Given the description of an element on the screen output the (x, y) to click on. 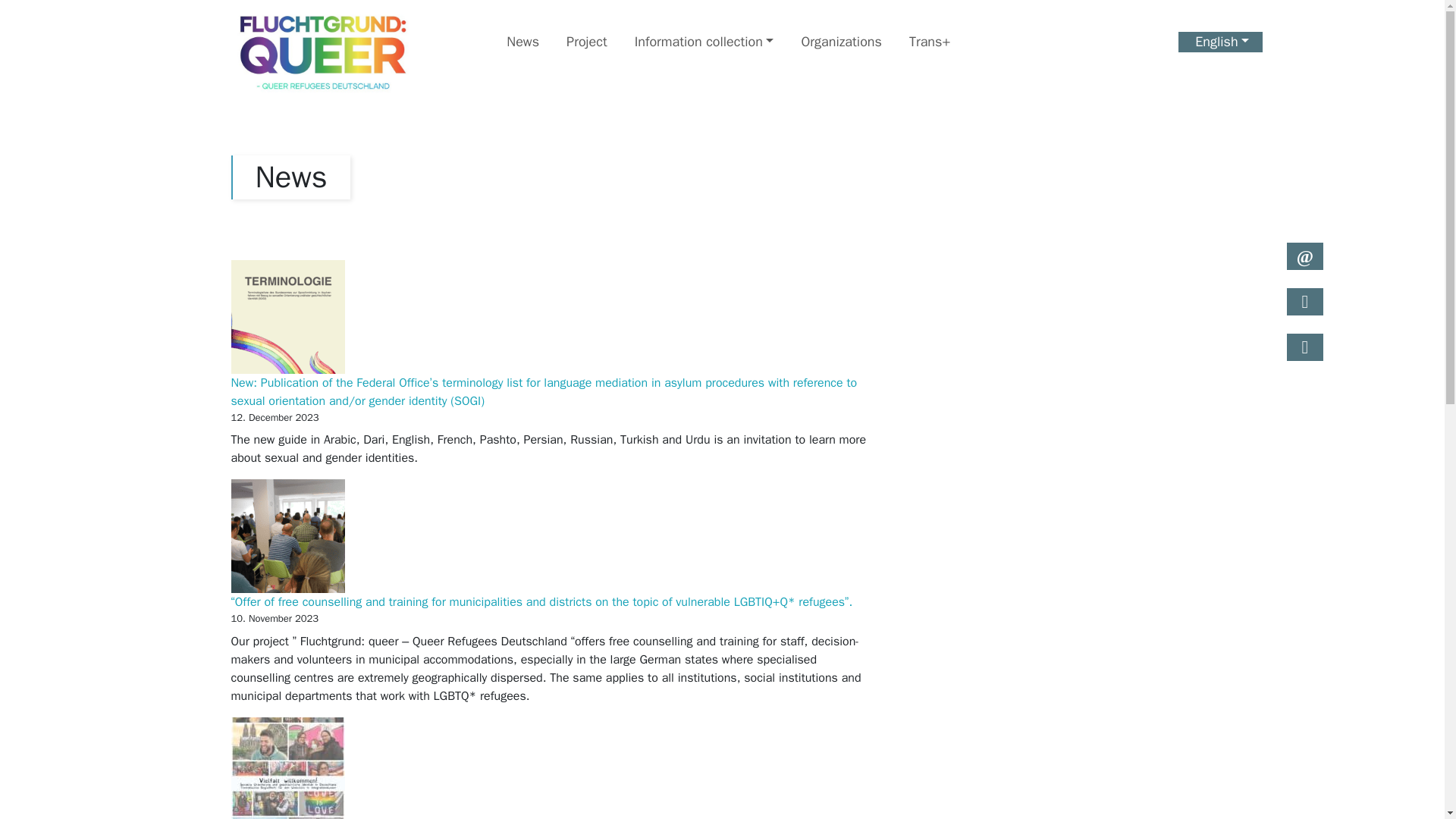
Project (587, 41)
Organizations (841, 41)
Information collection (704, 41)
News (523, 41)
English (1221, 41)
